Given the description of an element on the screen output the (x, y) to click on. 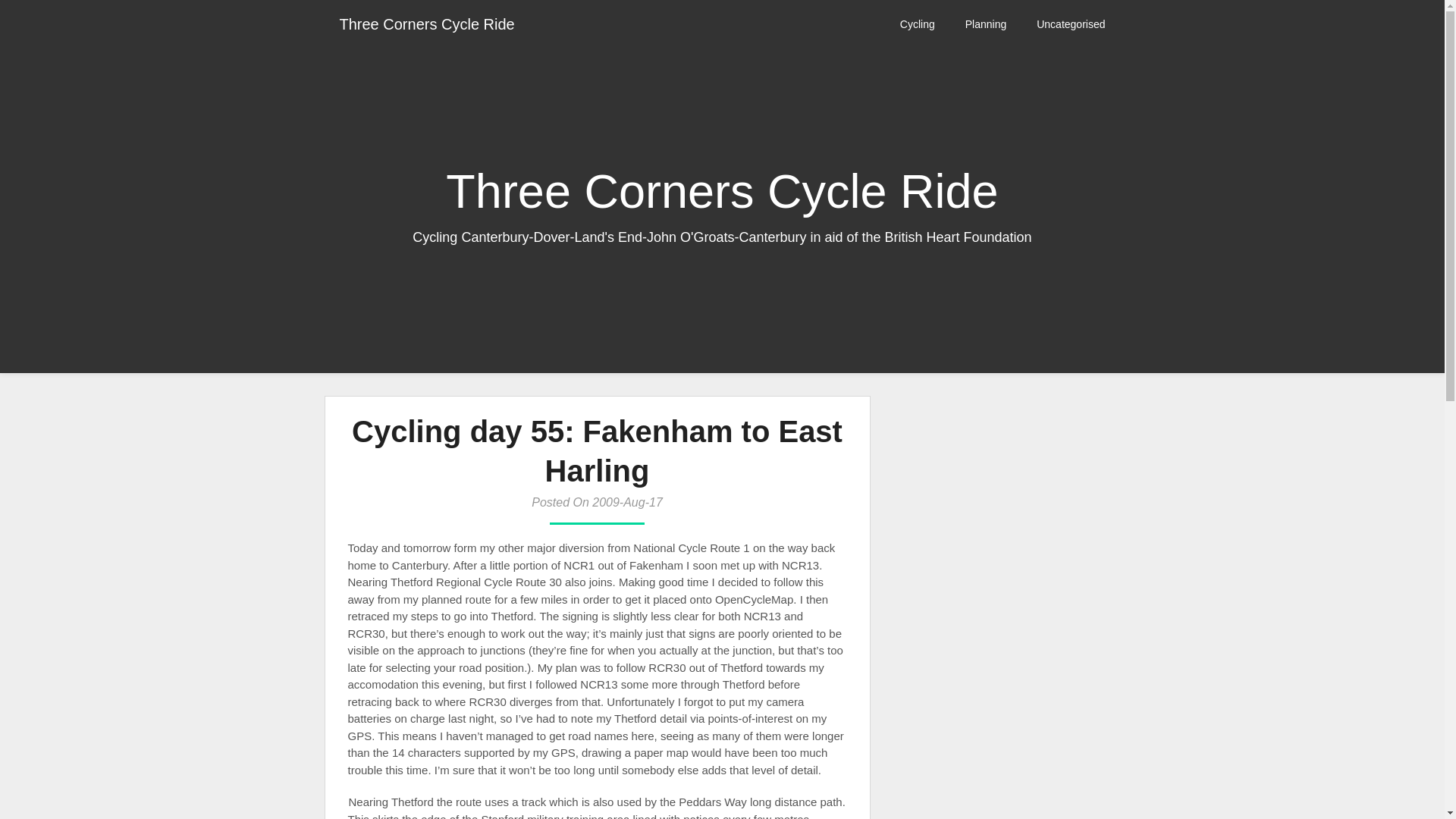
Uncategorised (1070, 24)
Three Corners Cycle Ride (426, 24)
Cycling (917, 24)
Planning (986, 24)
